Given the description of an element on the screen output the (x, y) to click on. 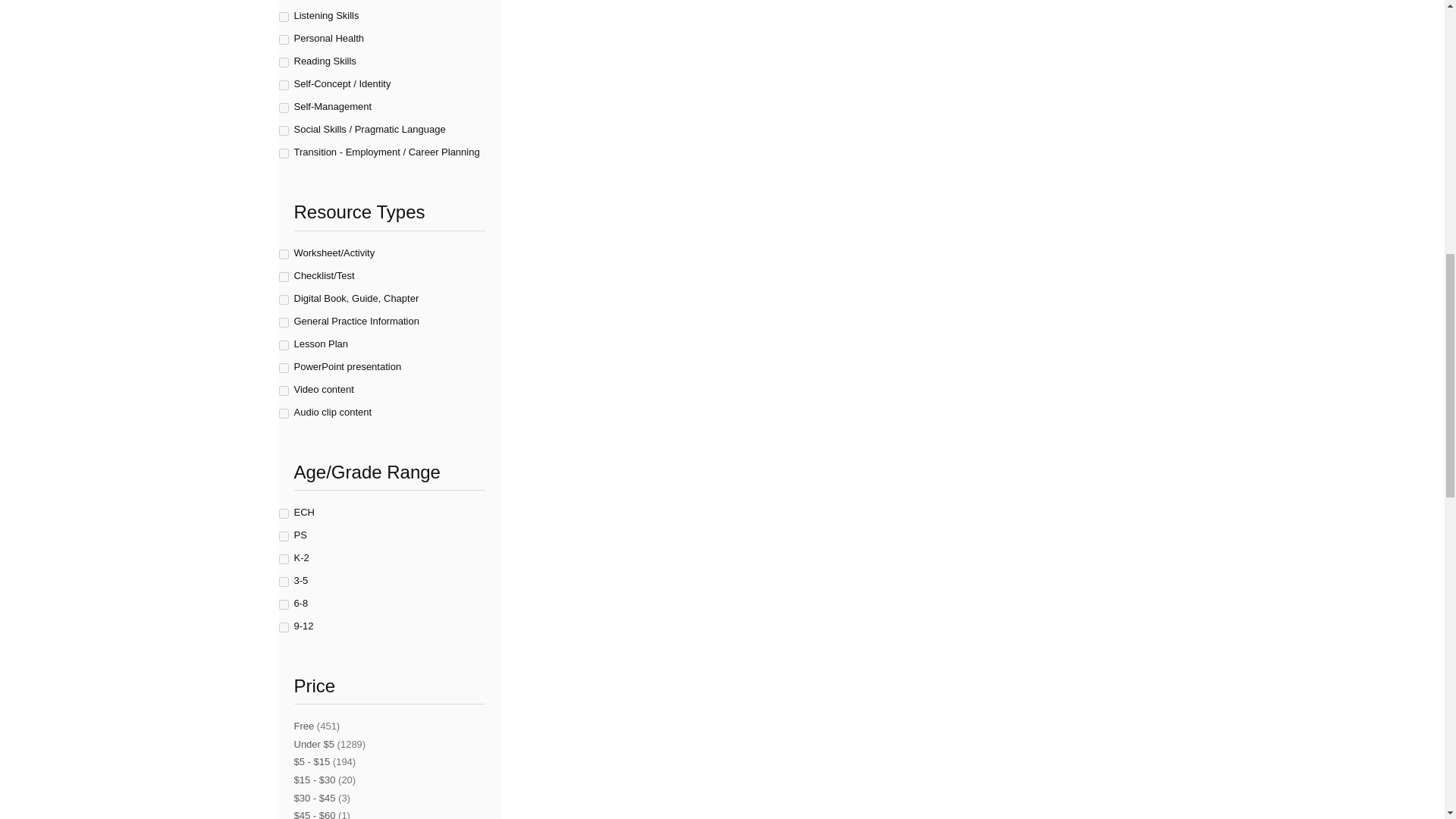
13 (283, 85)
15 (283, 130)
11 (283, 40)
12 (283, 62)
10 (283, 17)
14 (283, 108)
